Given the description of an element on the screen output the (x, y) to click on. 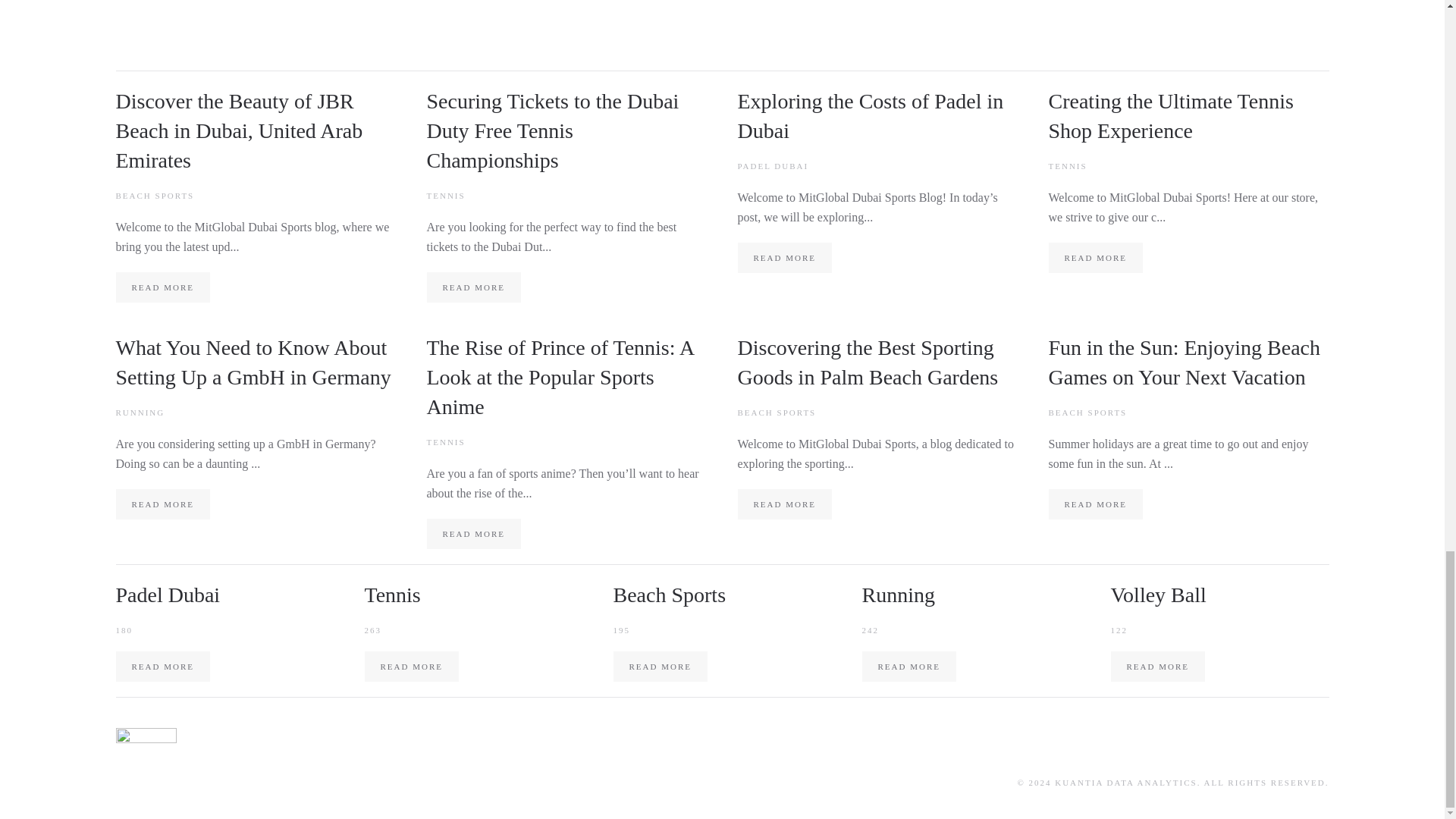
READ MORE (908, 666)
TENNIS (445, 441)
READ MORE (783, 503)
RUNNING (139, 411)
READ MORE (659, 666)
READ MORE (783, 257)
PADEL DUBAI (772, 165)
TENNIS (1067, 165)
READ MORE (162, 286)
READ MORE (472, 533)
READ MORE (1094, 503)
READ MORE (162, 503)
BEACH SPORTS (775, 411)
TENNIS (445, 194)
BEACH SPORTS (1087, 411)
